Given the description of an element on the screen output the (x, y) to click on. 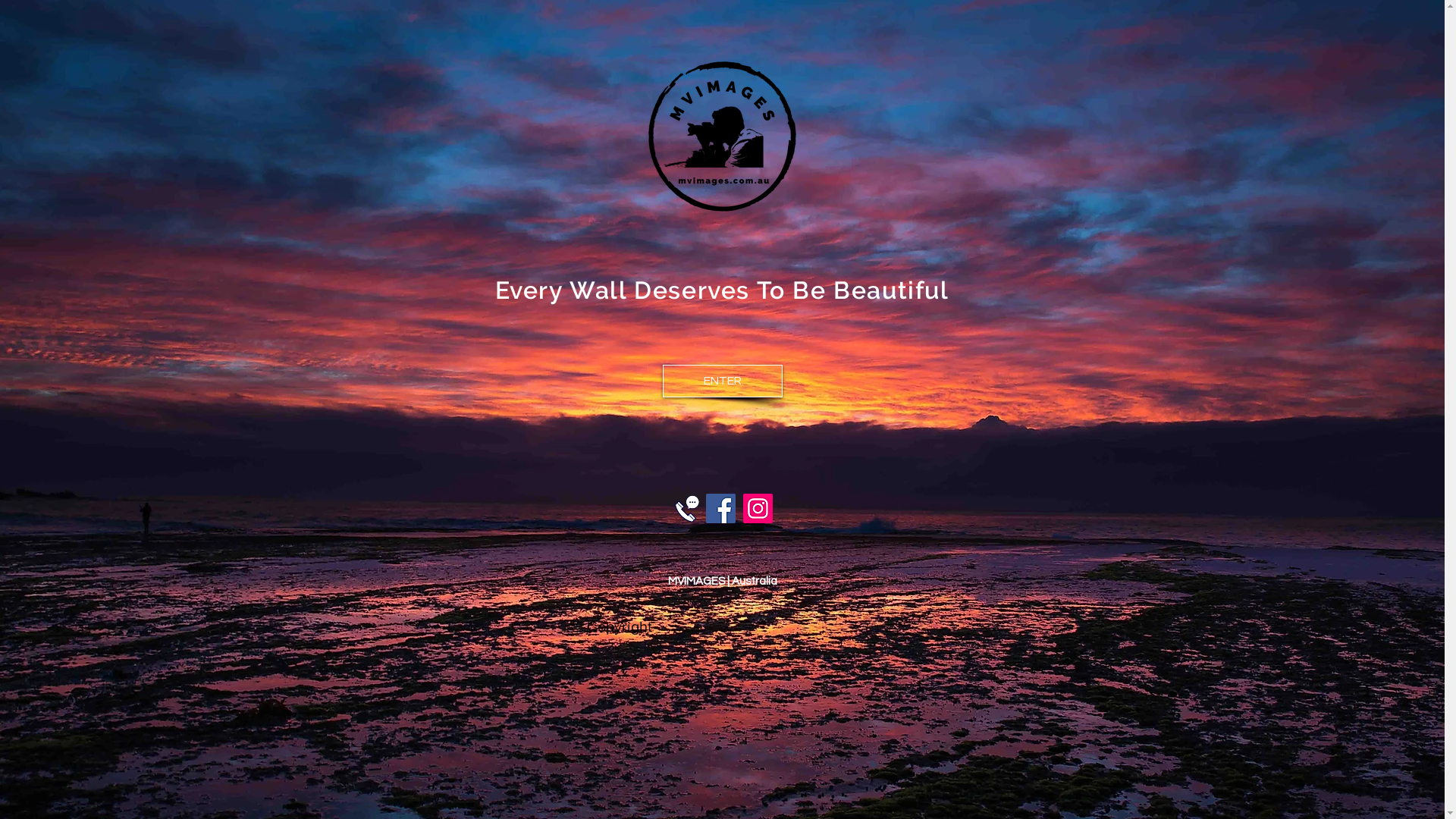
MVIMAGES | Australia Element type: text (721, 577)
ENTER Element type: text (722, 380)
